Given the description of an element on the screen output the (x, y) to click on. 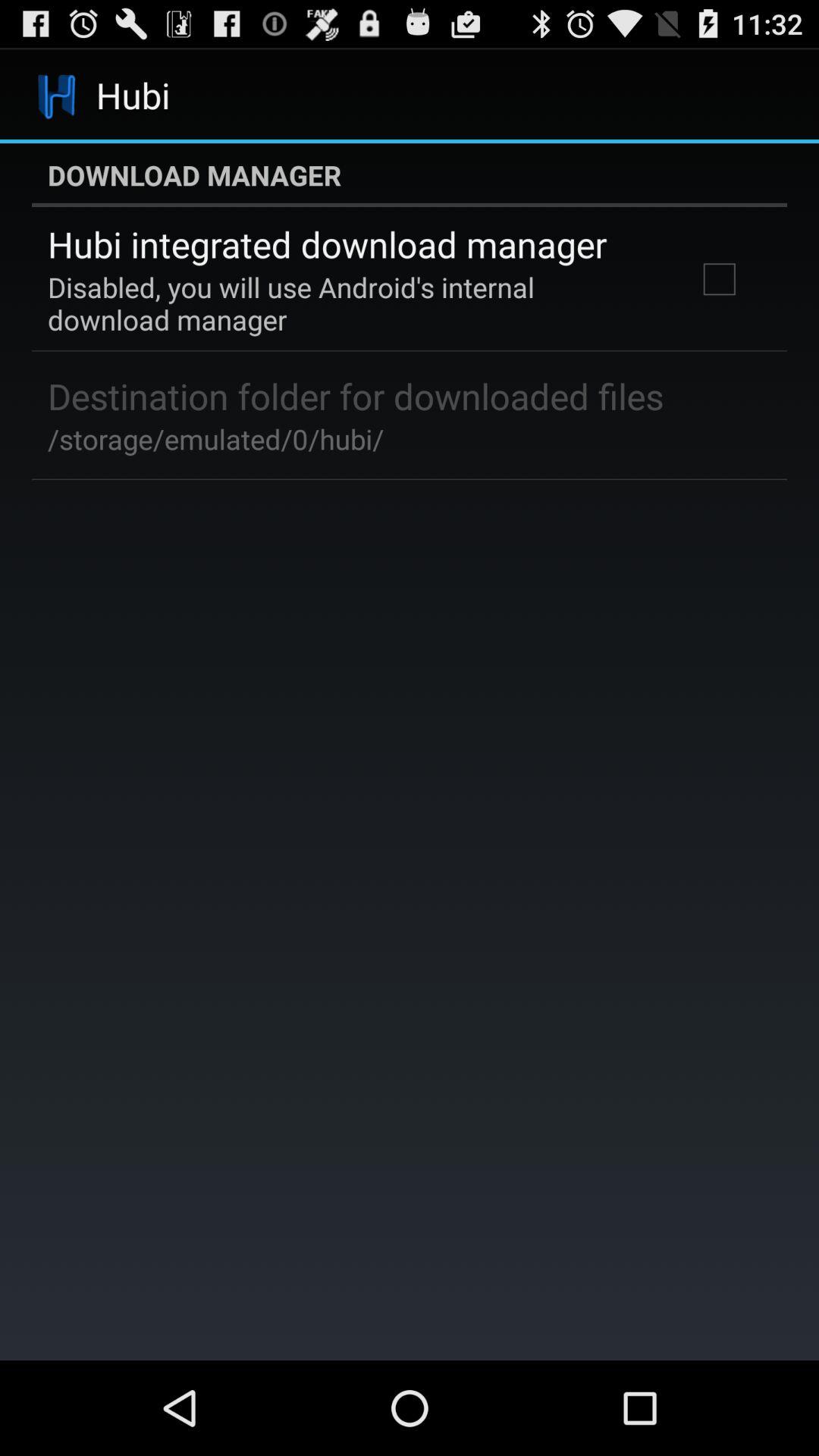
turn on the destination folder for icon (355, 395)
